Given the description of an element on the screen output the (x, y) to click on. 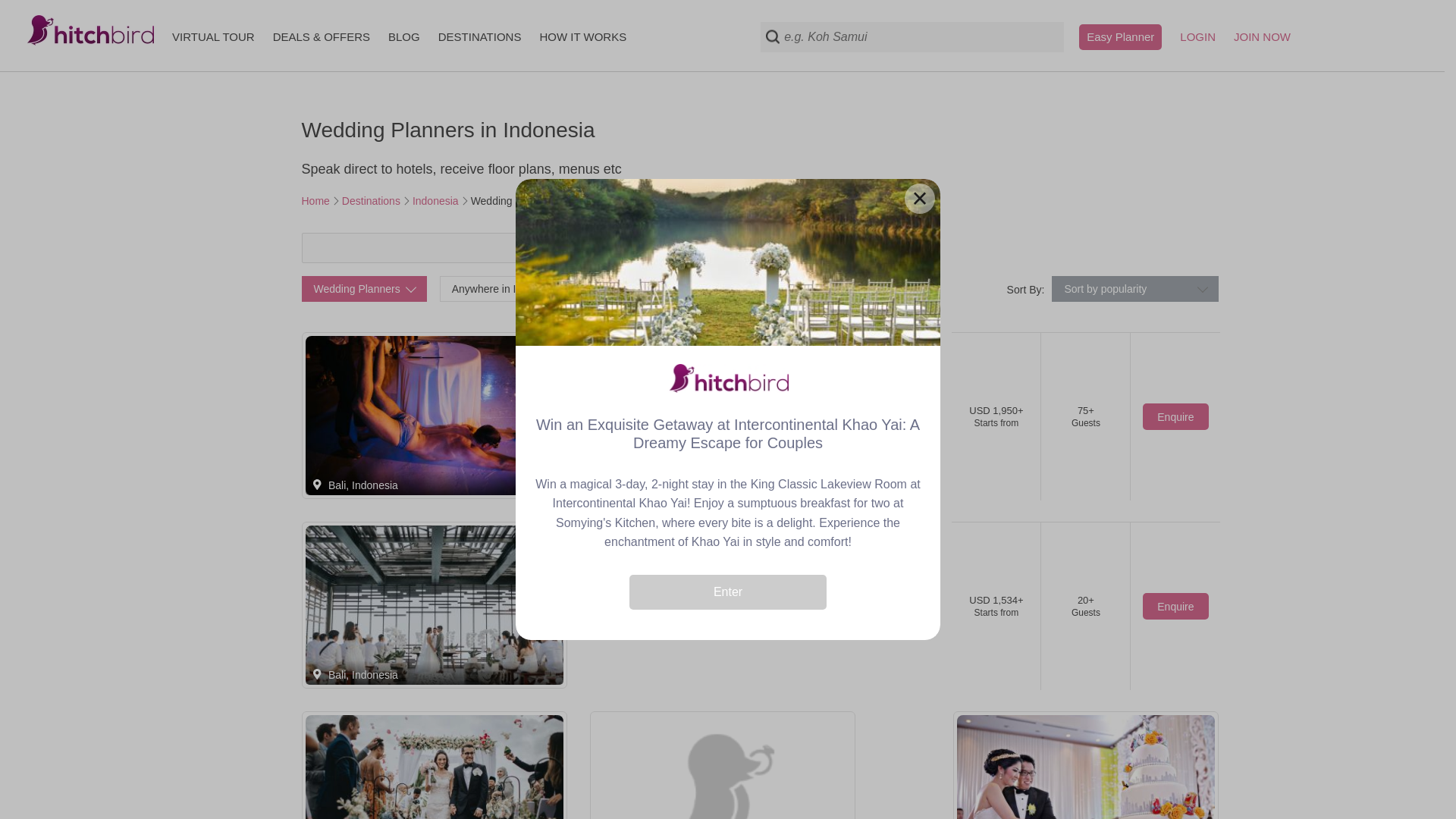
HOW IT WORKS (582, 36)
VIRTUAL TOUR (212, 36)
DESTINATIONS (479, 36)
BLOG (404, 36)
